Given the description of an element on the screen output the (x, y) to click on. 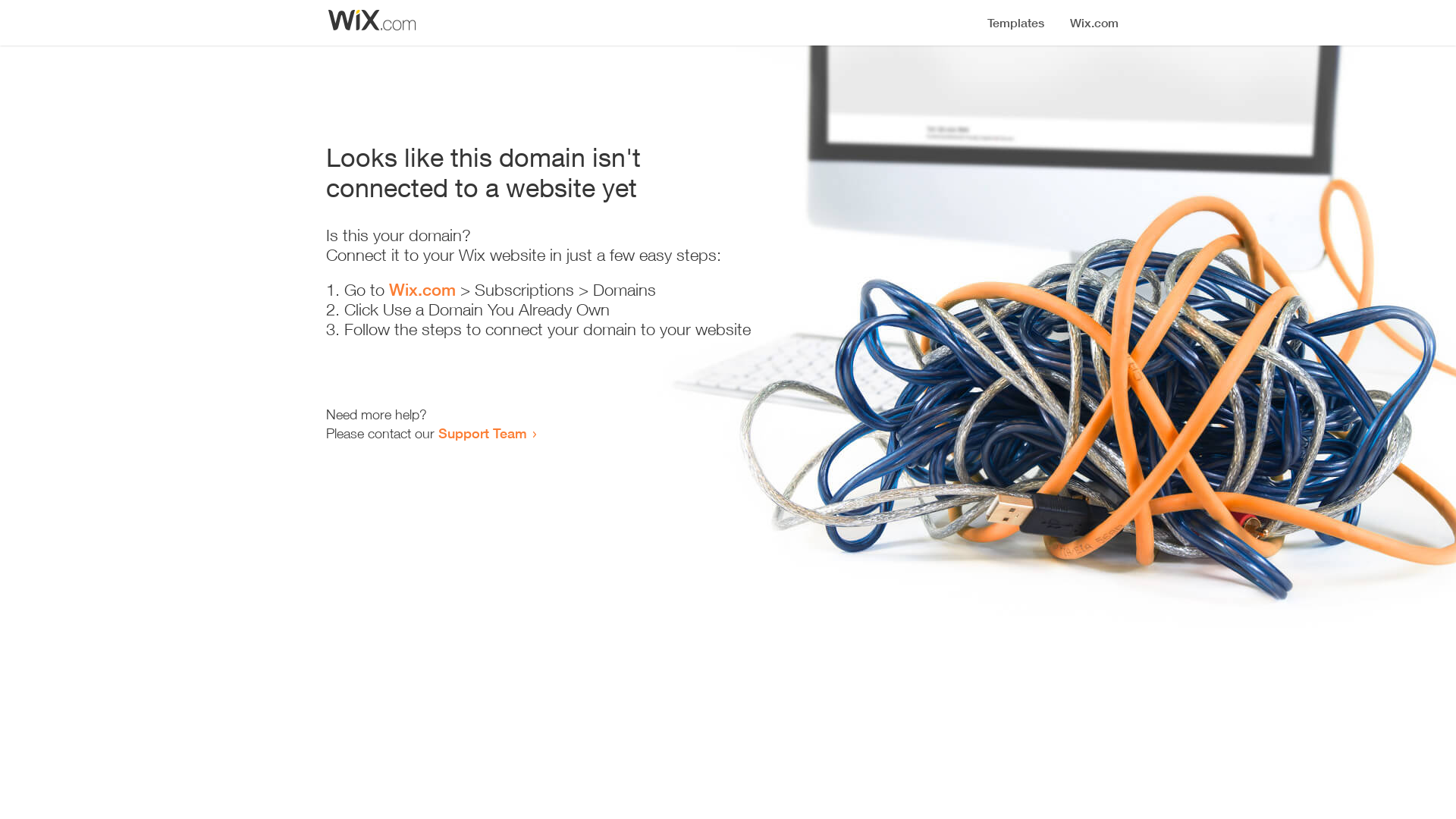
Support Team Element type: text (482, 432)
Wix.com Element type: text (422, 289)
